Given the description of an element on the screen output the (x, y) to click on. 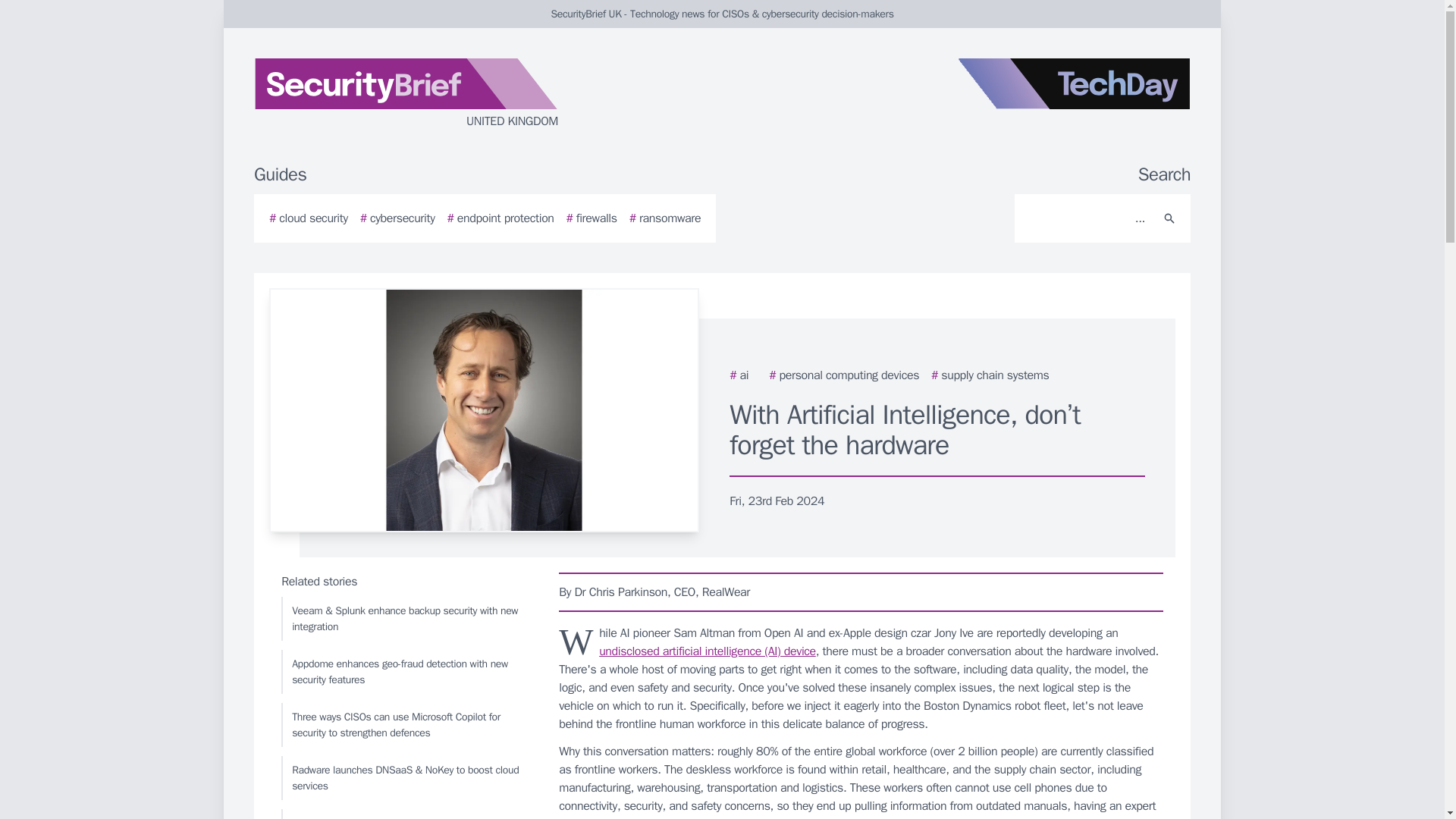
Developer trust in AI tools declines despite increased usage (406, 814)
By Dr Chris Parkinson, CEO, RealWear (861, 592)
UNITED KINGDOM (435, 94)
